Given the description of an element on the screen output the (x, y) to click on. 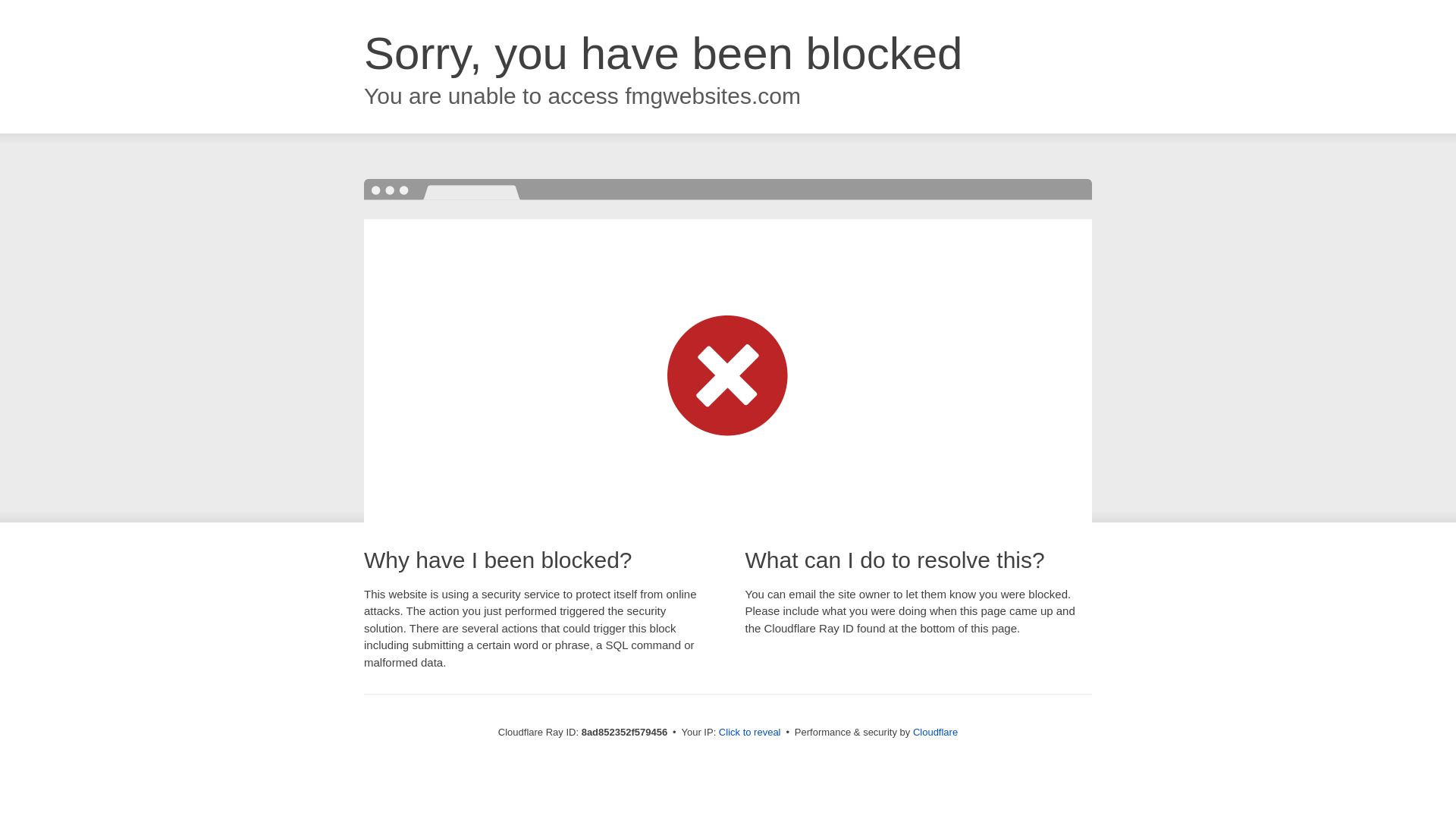
Cloudflare (935, 731)
Click to reveal (749, 732)
